Given the description of an element on the screen output the (x, y) to click on. 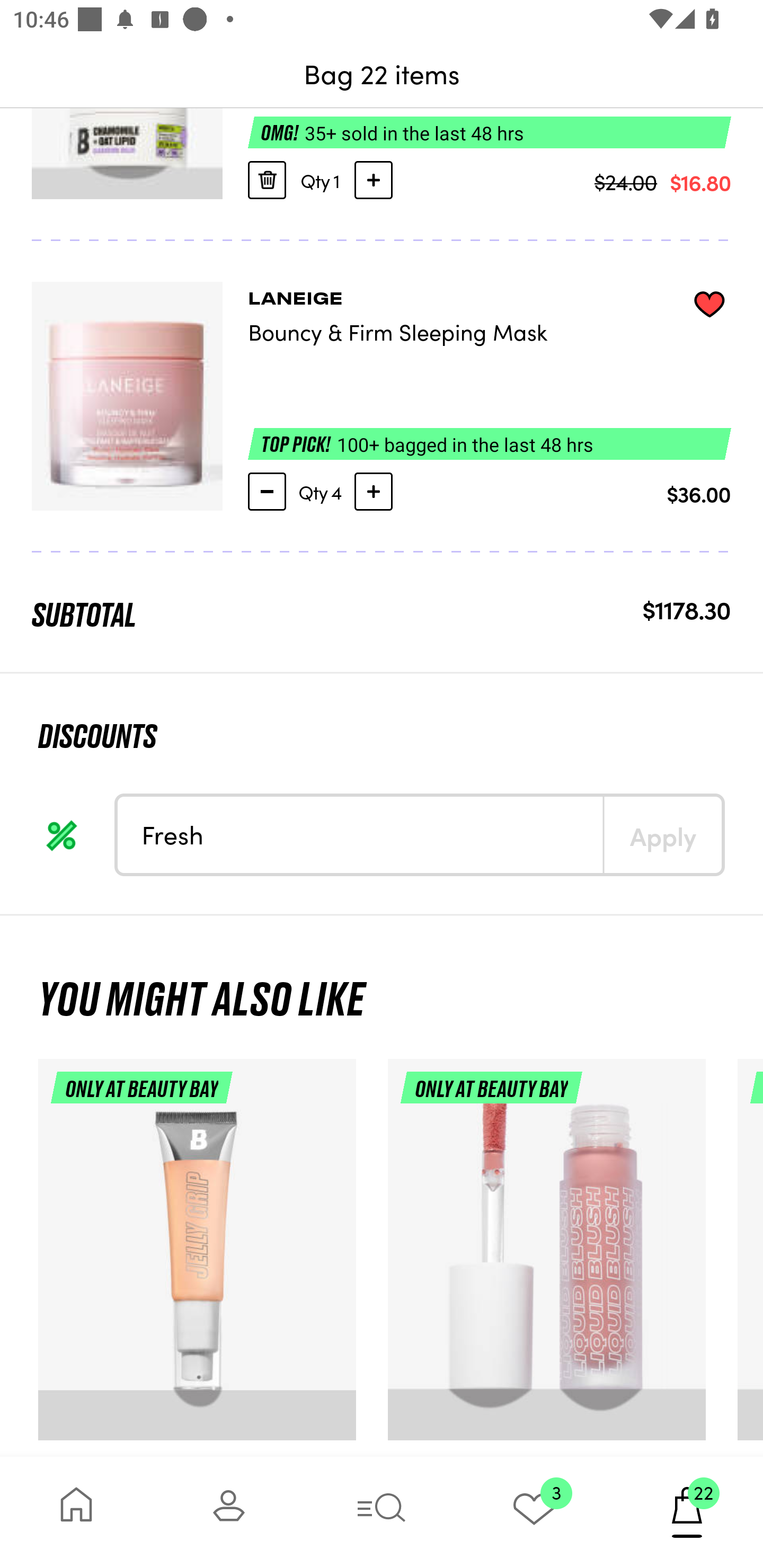
Fresh (360, 834)
Apply (661, 834)
ONLY AT BEAUTY BAY (197, 1257)
ONLY AT BEAUTY BAY (546, 1257)
3 (533, 1512)
22 (686, 1512)
